Given the description of an element on the screen output the (x, y) to click on. 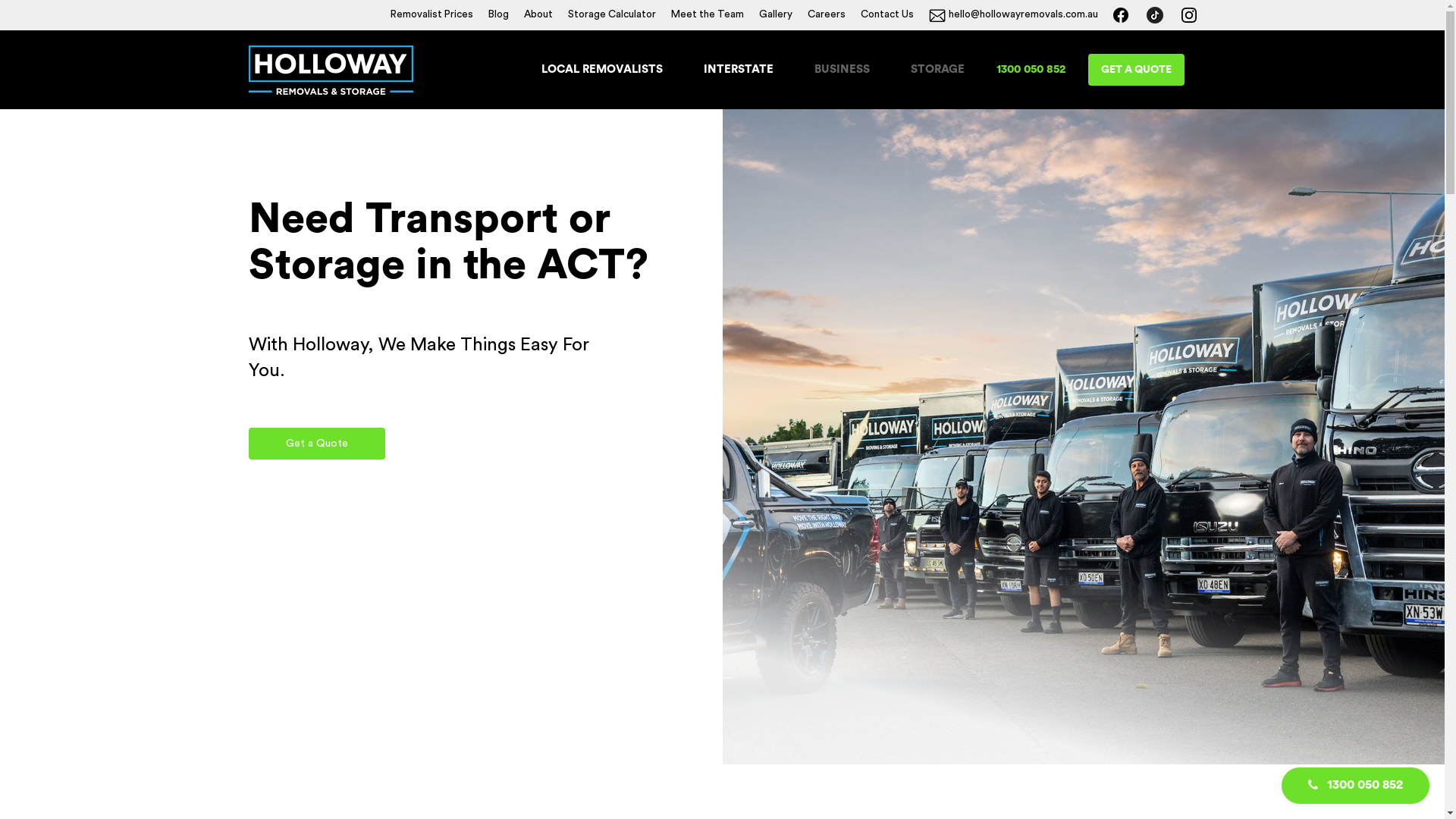
BUSINESS Element type: text (841, 69)
Careers Element type: text (825, 14)
LOCAL REMOVALISTS Element type: text (601, 69)
About Element type: text (537, 14)
hello@hollowayremovals.com.au Element type: text (1012, 15)
Meet the Team Element type: text (706, 14)
Removalist Prices Element type: text (430, 14)
STORAGE Element type: text (937, 69)
1300 050 852 Element type: text (1030, 69)
Gallery Element type: text (774, 14)
Blog Element type: text (498, 14)
Get a Quote Element type: text (316, 443)
Contact Us Element type: text (886, 14)
Storage Calculator Element type: text (610, 14)
1300 050 852 Element type: text (1359, 784)
INTERSTATE Element type: text (738, 69)
GET A QUOTE Element type: text (1136, 69)
